Given the description of an element on the screen output the (x, y) to click on. 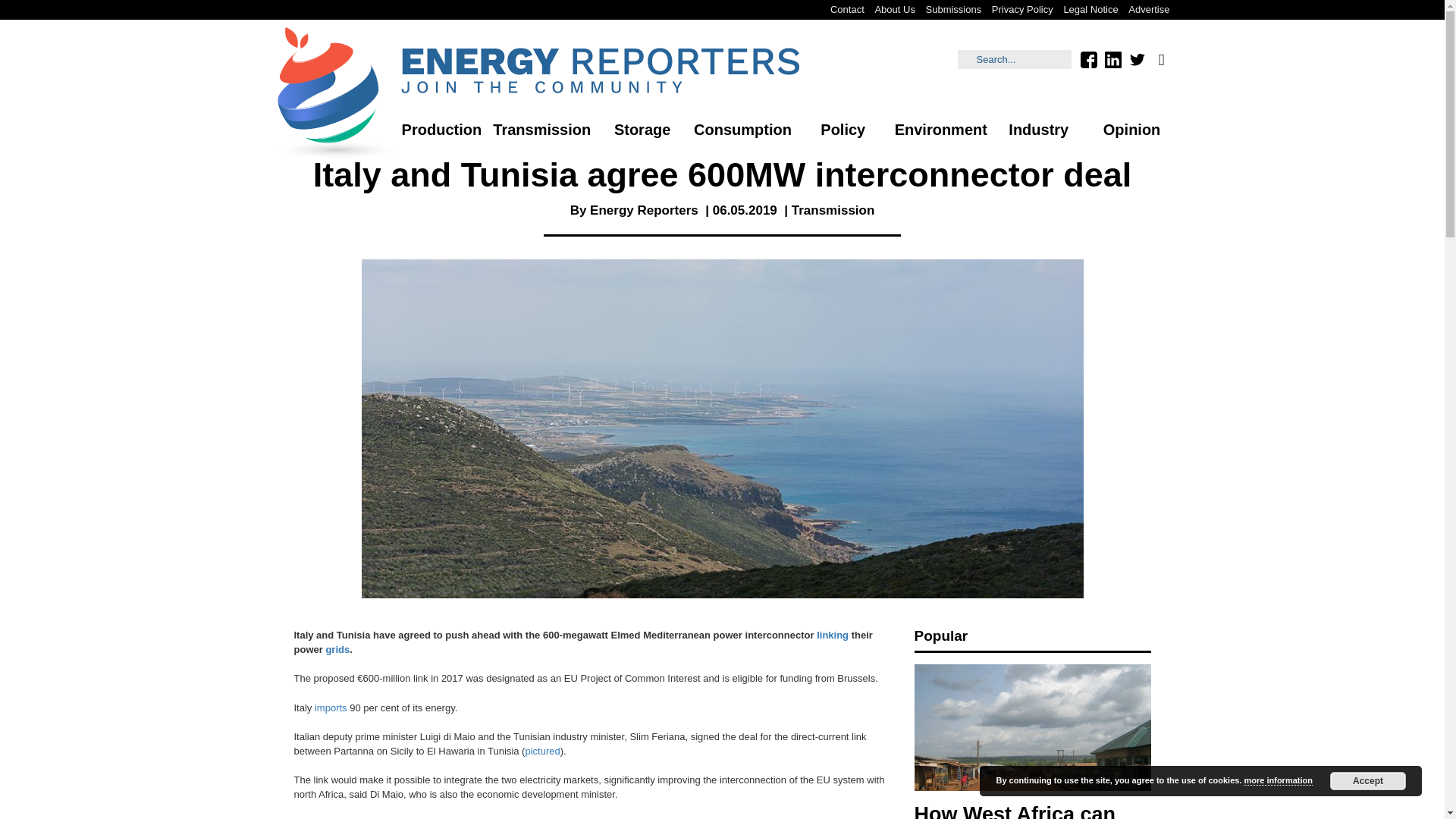
06.05.2019 (745, 210)
imports (330, 707)
Energy Reporters (643, 210)
linking (832, 634)
Contact (847, 9)
Industry (1038, 129)
RSS (1160, 59)
LinkedIn (1112, 59)
pictured (541, 750)
Search (1014, 58)
Storage (641, 129)
Transmission (542, 129)
Twitter (1136, 59)
RSS (1160, 59)
Privacy Policy (1022, 9)
